Given the description of an element on the screen output the (x, y) to click on. 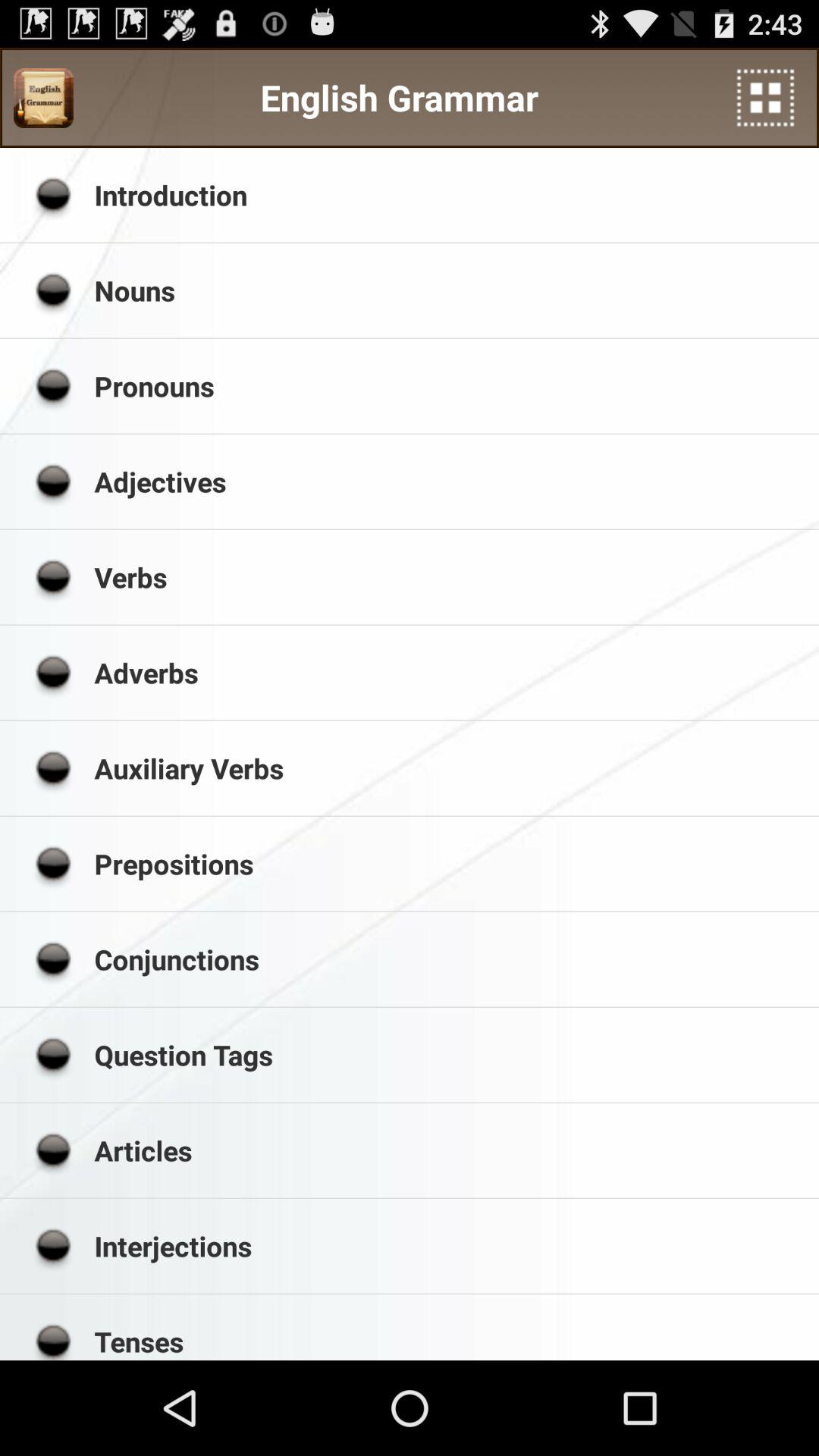
turn on the button at the top right corner (765, 97)
